Given the description of an element on the screen output the (x, y) to click on. 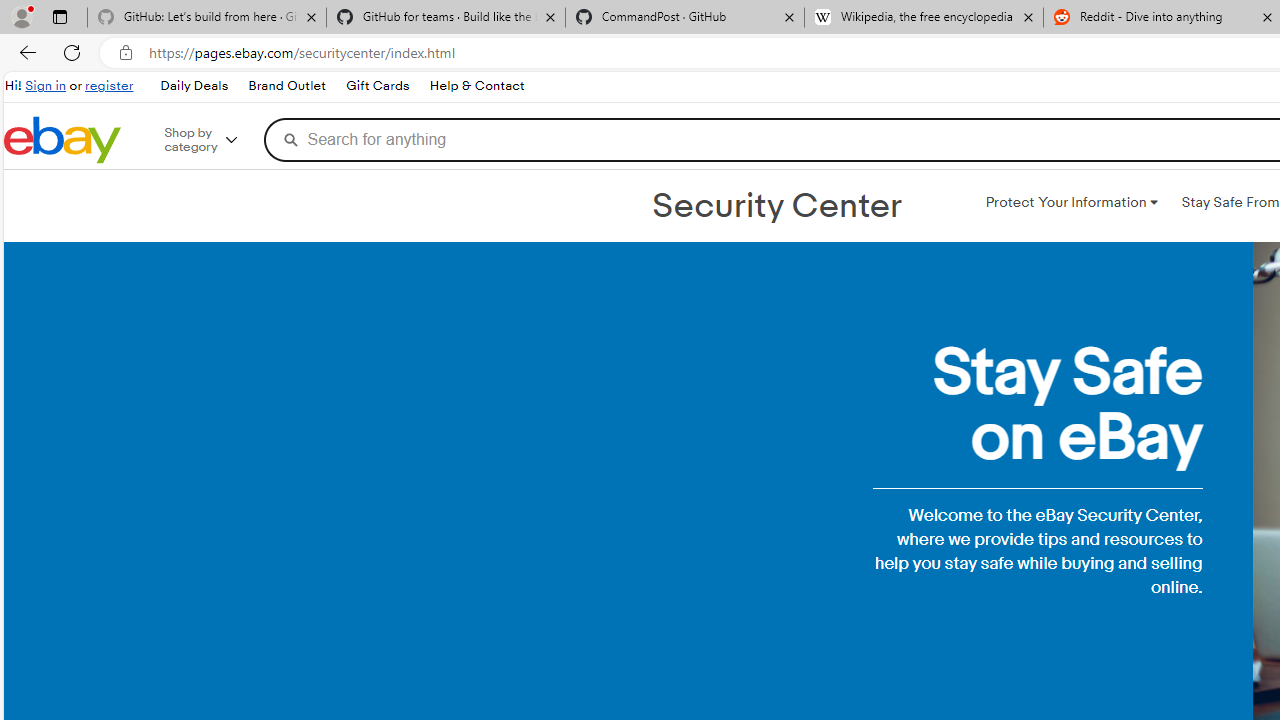
Daily Deals (193, 85)
Protect Your Information  (1071, 202)
register (109, 85)
Brand Outlet (285, 85)
eBay Home (62, 139)
Brand Outlet (287, 86)
